Given the description of an element on the screen output the (x, y) to click on. 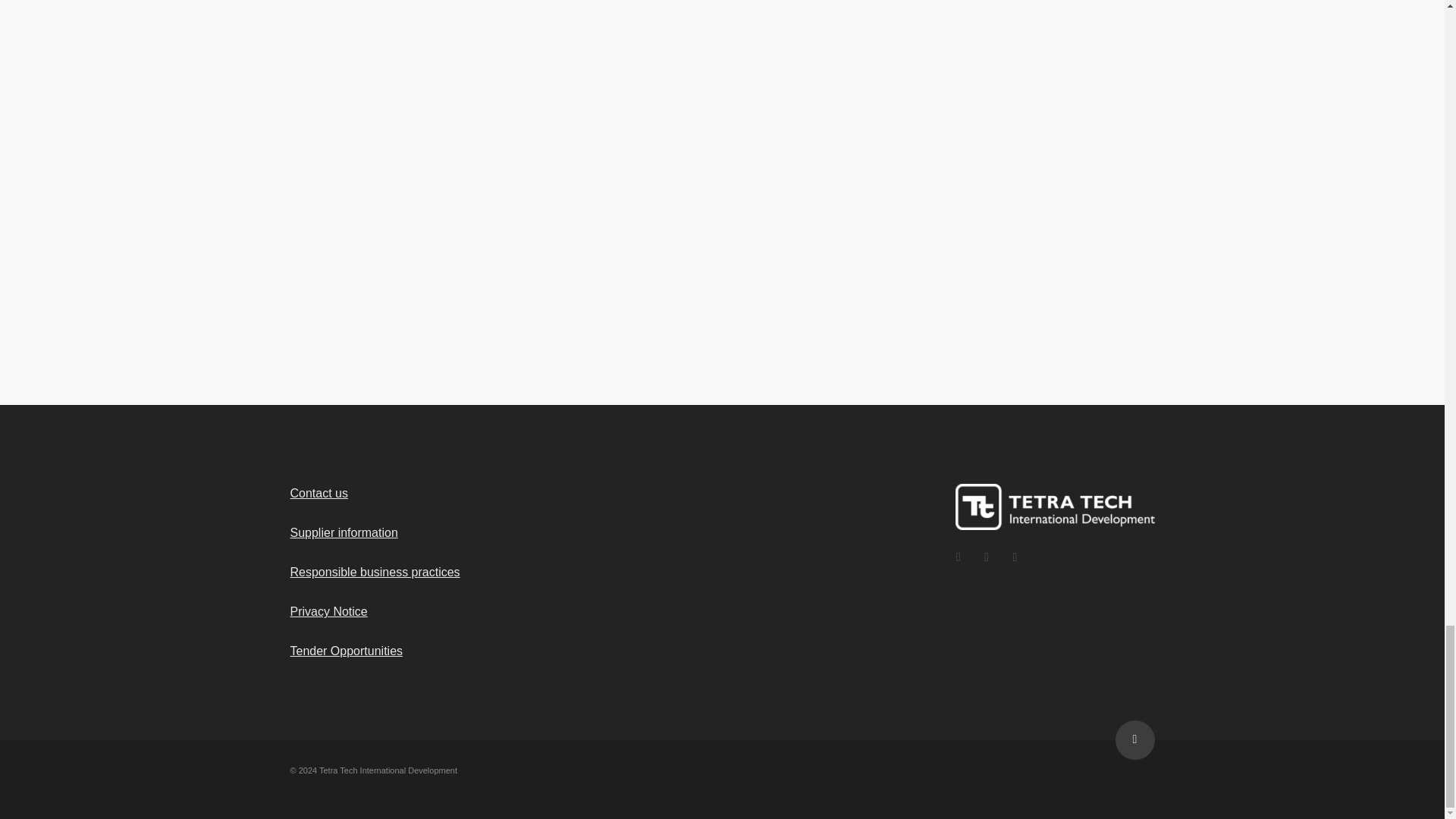
Contact us (318, 492)
Privacy Notice (327, 611)
Tender Opportunities (346, 650)
Responsible business practices (374, 571)
Supplier information (343, 532)
